Given the description of an element on the screen output the (x, y) to click on. 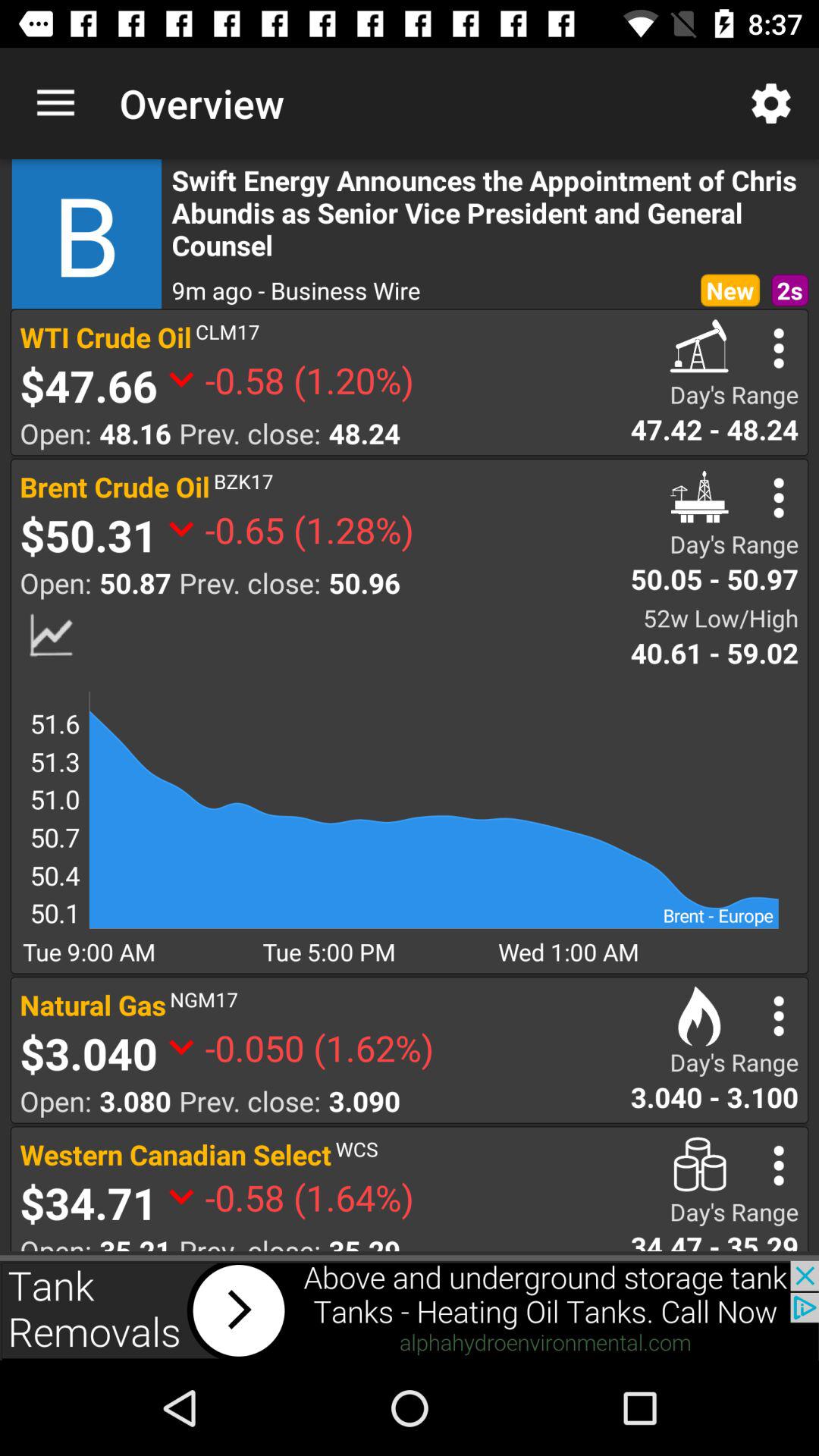
more options (778, 497)
